Given the description of an element on the screen output the (x, y) to click on. 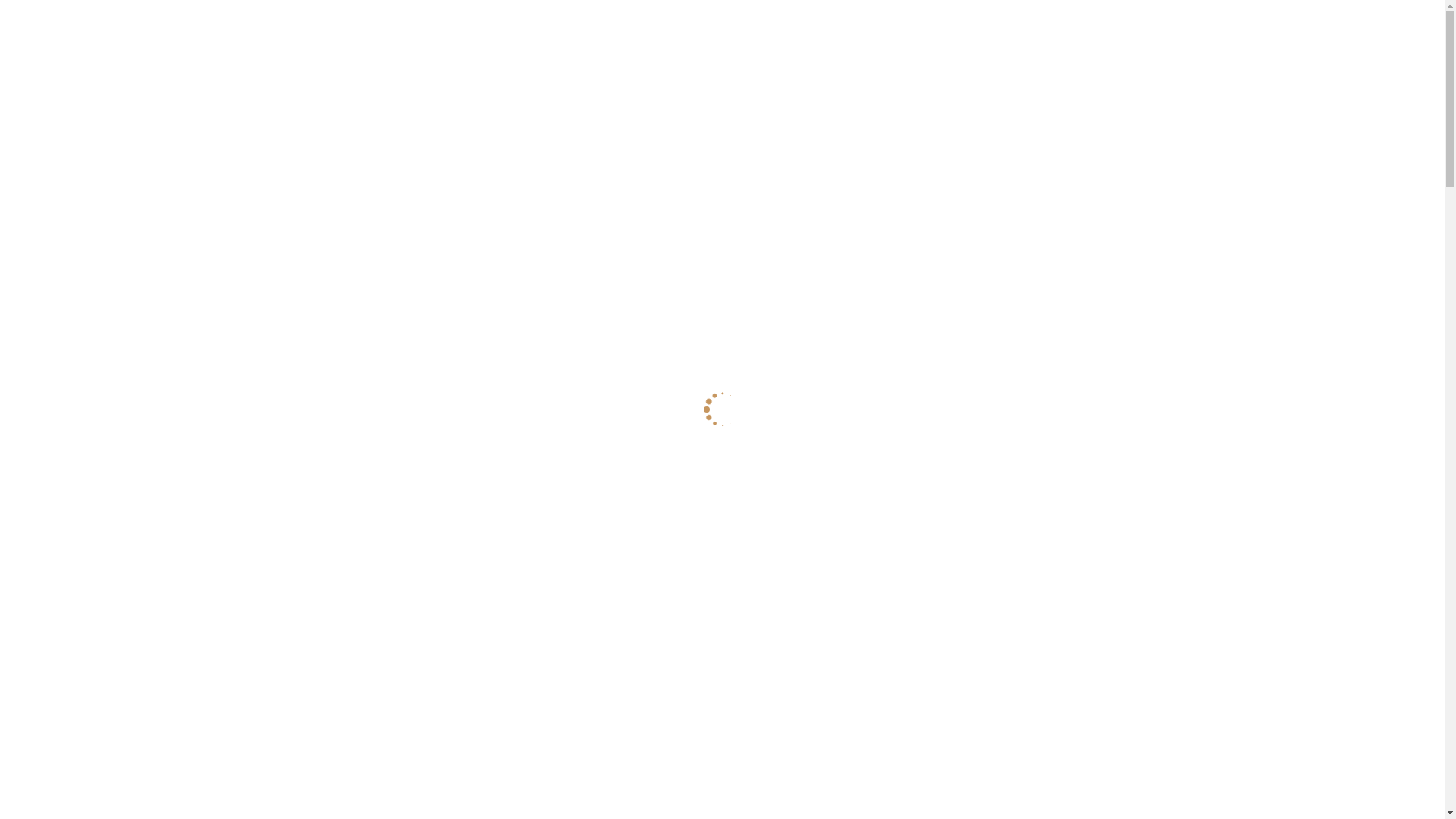
m.pravde@bih.net.ba Element type: text (1158, 23)
036/555-740 Element type: text (1041, 23)
MPULS HNK Element type: hover (76, 70)
Aktuelno Element type: text (782, 409)
14 Juna, 2022 Element type: text (681, 409)
